Given the description of an element on the screen output the (x, y) to click on. 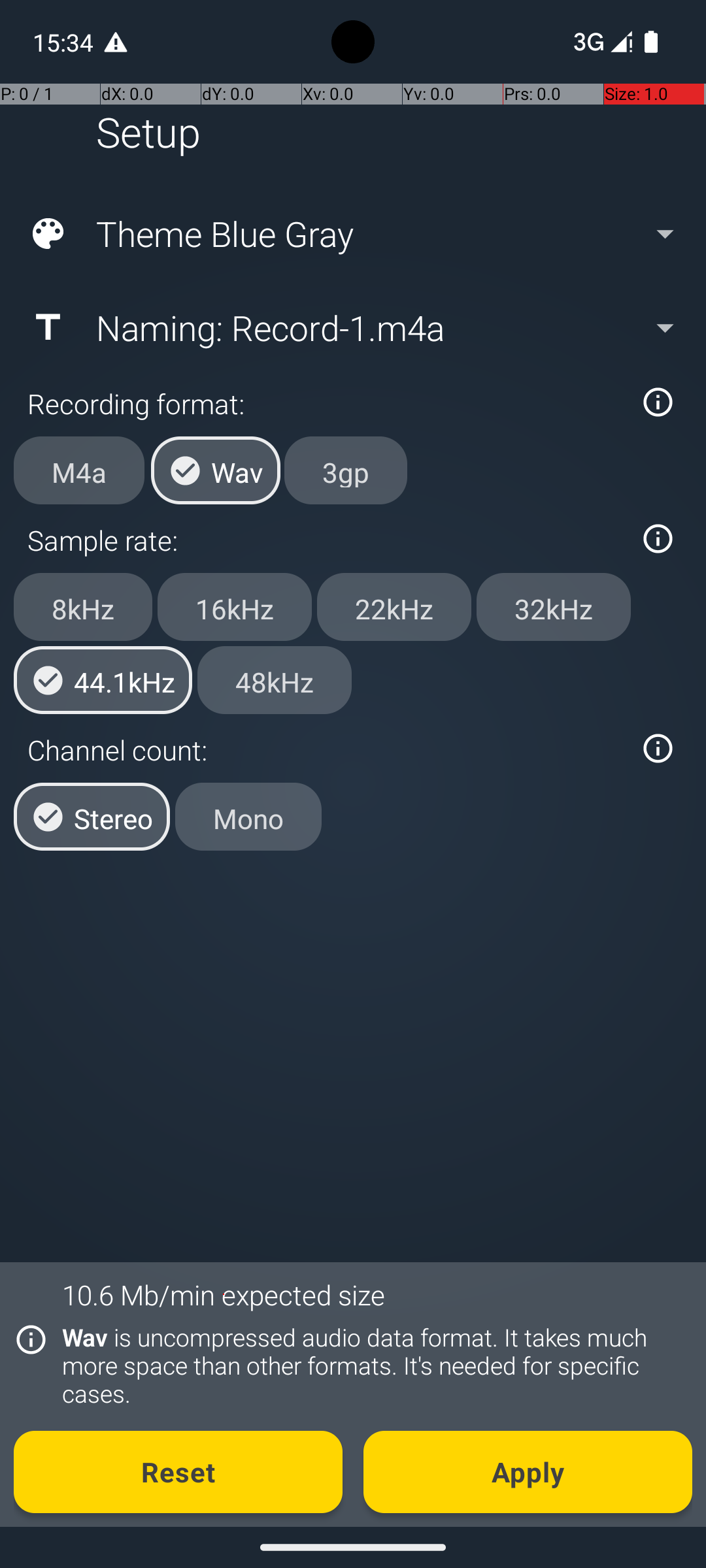
10.6 Mb/min expected size Element type: android.widget.TextView (223, 1294)
Wav is uncompressed audio data format. It takes much more space than other formats. It's needed for specific cases. Element type: android.widget.TextView (370, 1364)
